Given the description of an element on the screen output the (x, y) to click on. 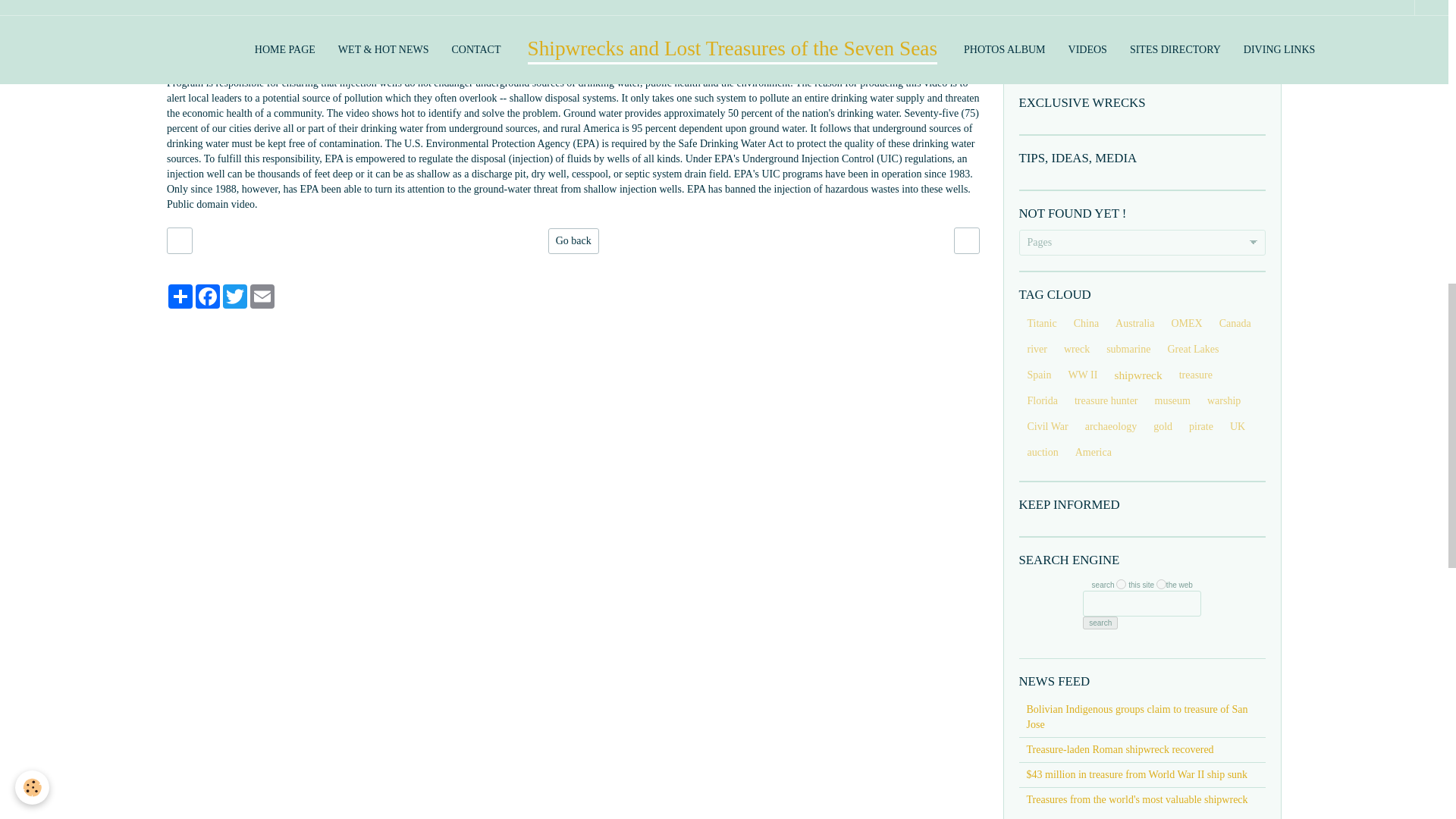
NOT FOUND YET ! (1142, 213)
Australia (1133, 323)
Canada (1235, 323)
w (1161, 583)
Partager (180, 296)
TIPS, IDEAS, MEDIA (1142, 158)
Facebook (207, 296)
wreck (1076, 349)
China (1085, 323)
river (1037, 349)
Email (262, 296)
EXCLUSIVE WRECKS (1142, 103)
Go back (573, 240)
OMEX (1185, 323)
search (1100, 622)
